Given the description of an element on the screen output the (x, y) to click on. 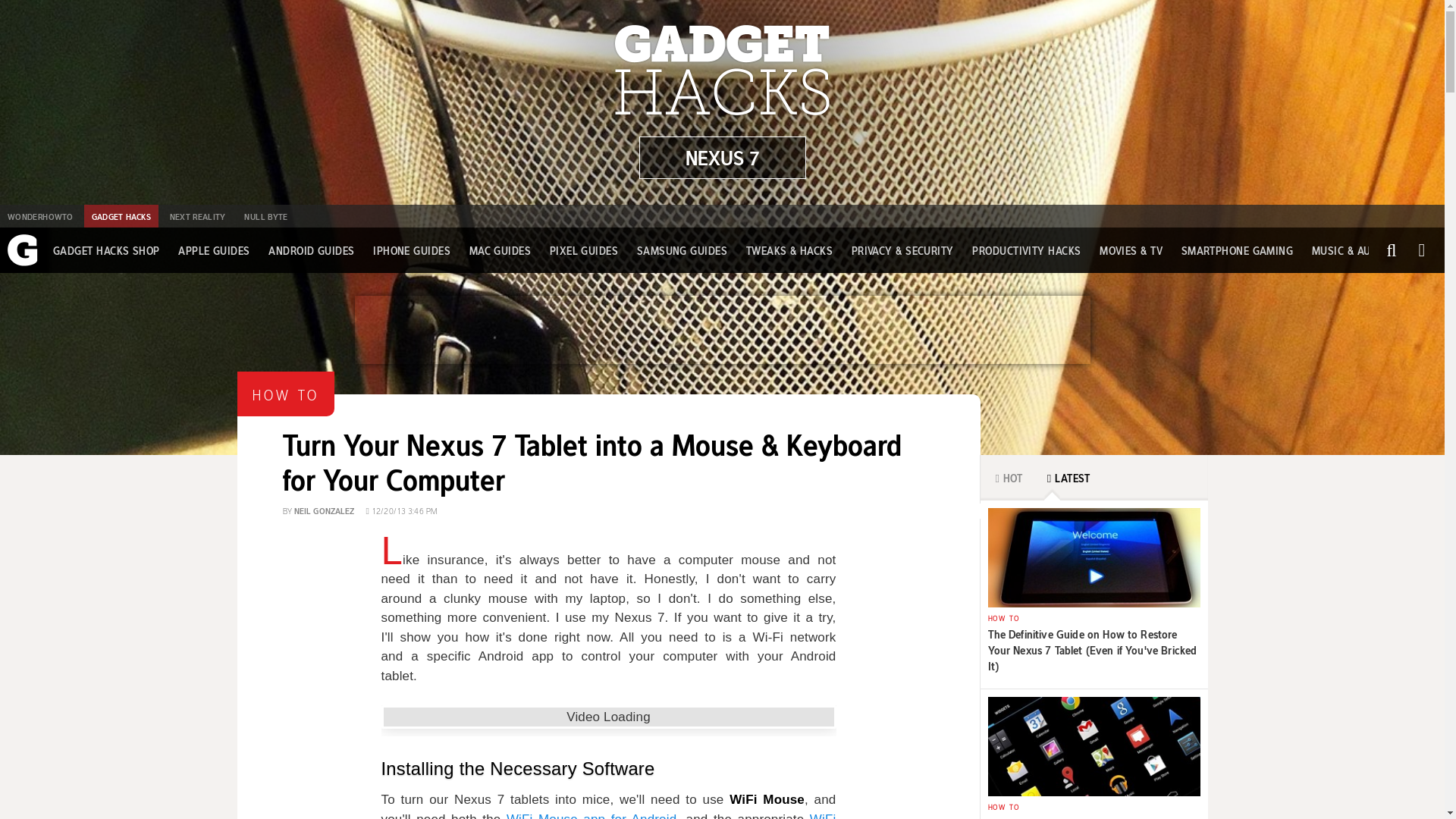
PRODUCTIVITY HACKS (1026, 249)
SMARTPHONE GAMING (1237, 249)
NEIL GONZALEZ (324, 509)
MAC GUIDES (499, 249)
WiFi Mouse app for Android (591, 815)
NULL BYTE (265, 215)
SAMSUNG GUIDES (681, 249)
WONDERHOWTO (40, 215)
NEXUS 7 (722, 157)
PIXEL GUIDES (583, 249)
WiFi Mouse Server (607, 815)
GADGET HACKS (121, 215)
NEXT REALITY (196, 215)
ANDROID GUIDES (310, 249)
Unchain your Google Nexus 7 for ultimate customization (722, 157)
